Given the description of an element on the screen output the (x, y) to click on. 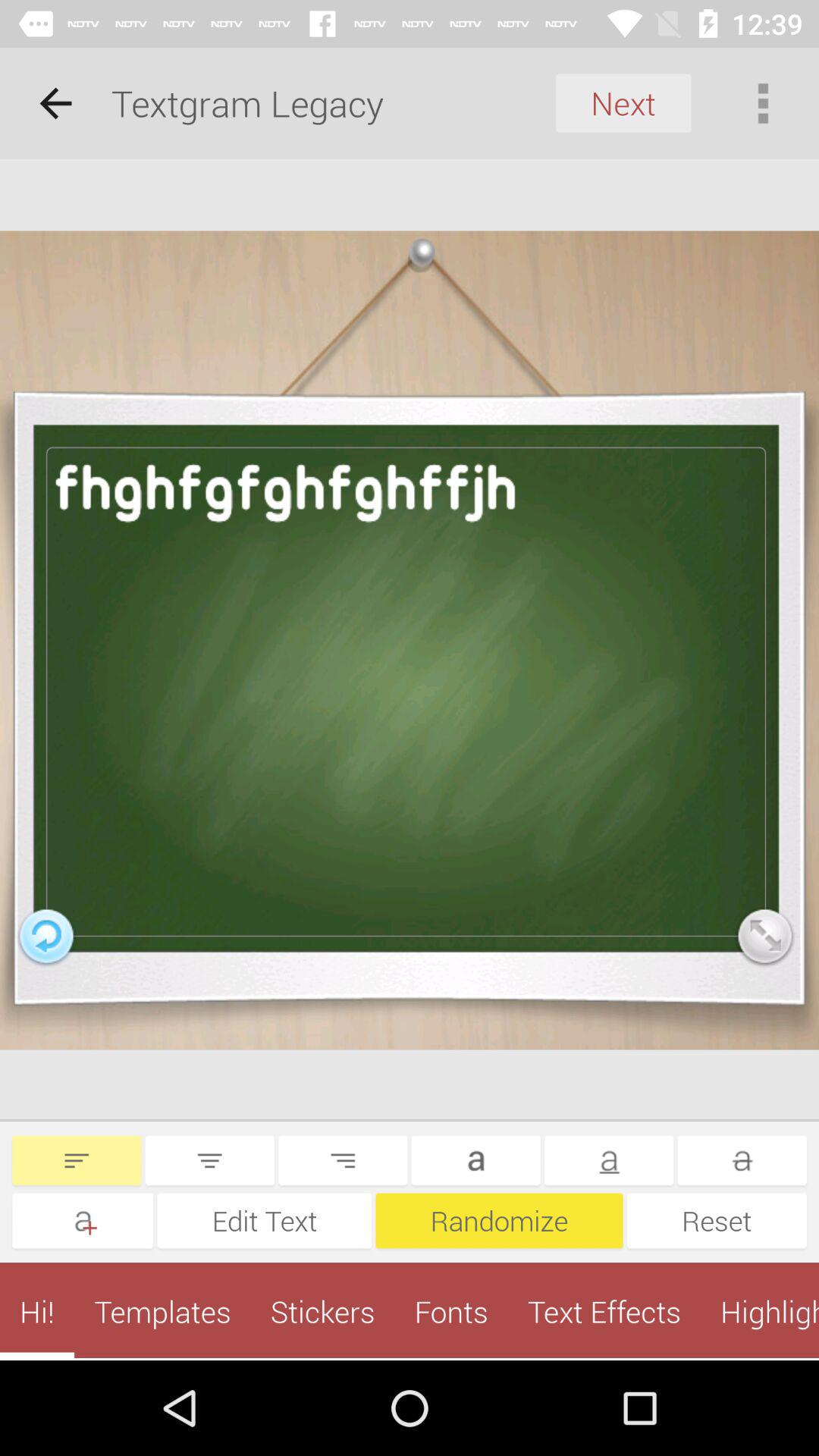
open the item next to the randomize icon (716, 1220)
